Given the description of an element on the screen output the (x, y) to click on. 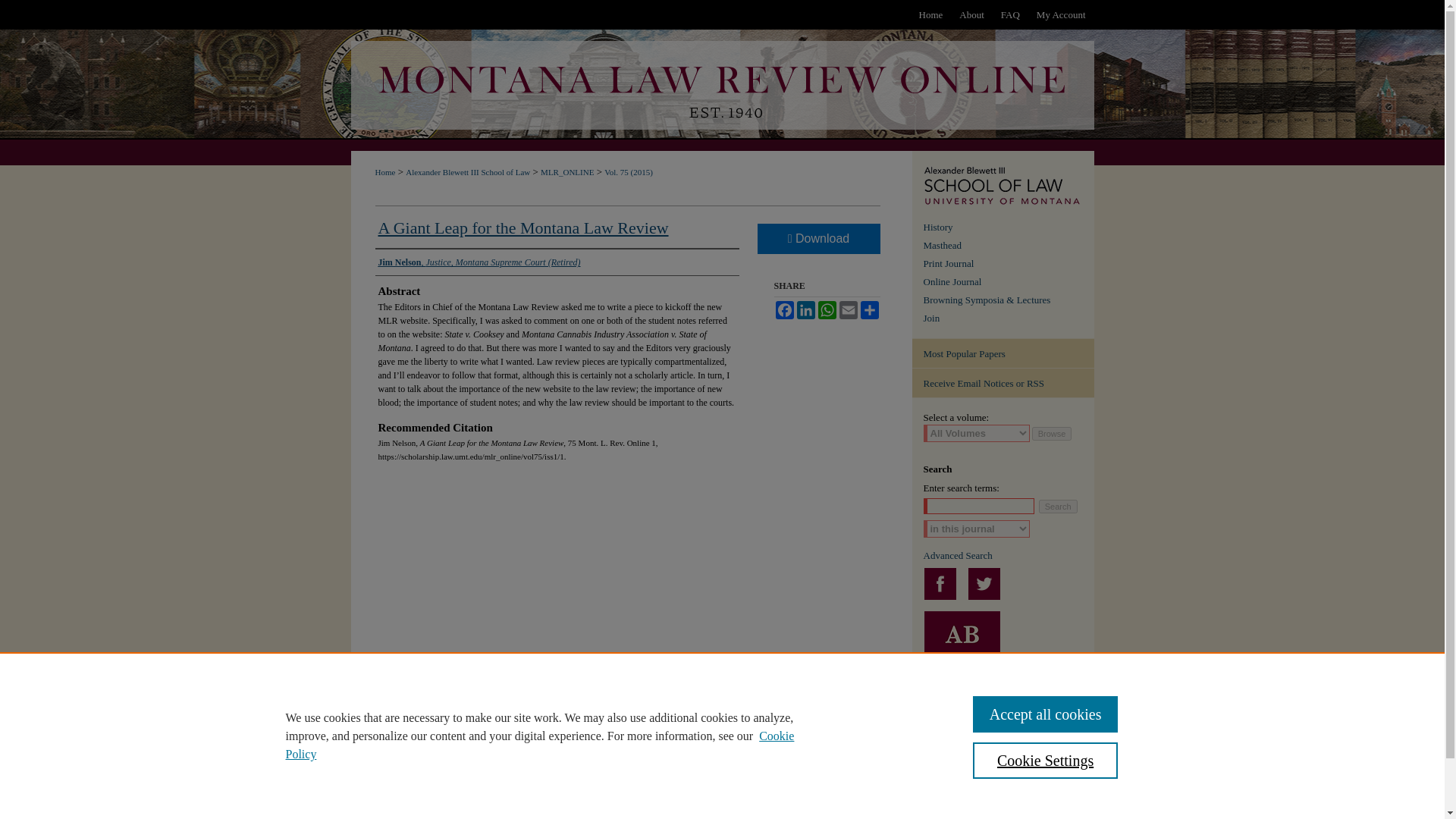
Home (929, 14)
Most Popular Papers (1002, 353)
LinkedIn (804, 310)
Download (818, 238)
Online Journal (1008, 282)
Search (1058, 506)
Editorial Board (1008, 245)
About (971, 14)
Online Journal (1008, 282)
Receive Email Notices or RSS (1002, 383)
Browse (1051, 433)
My Account (1060, 14)
Browse (1051, 433)
Home (929, 14)
FAQ (1009, 14)
